Given the description of an element on the screen output the (x, y) to click on. 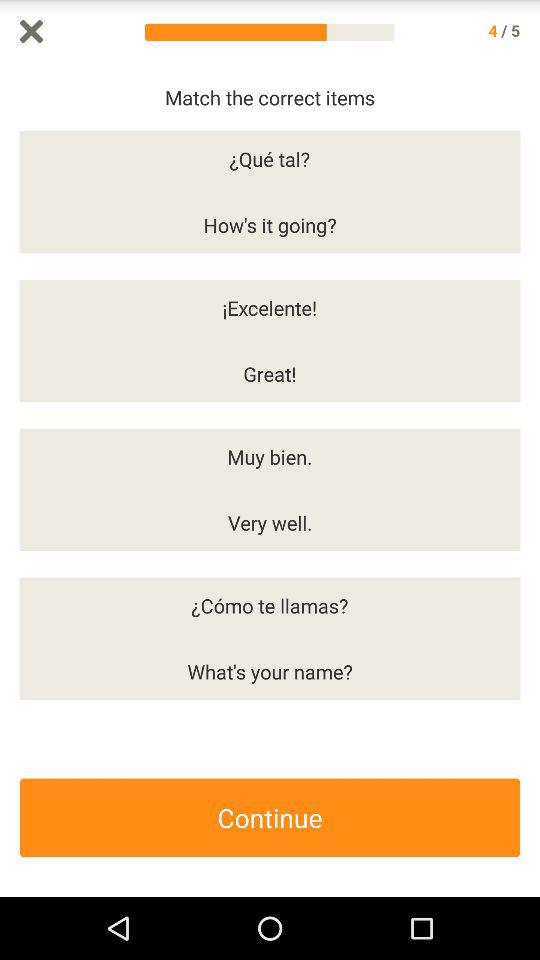
click the icon below 5 (530, 480)
